Given the description of an element on the screen output the (x, y) to click on. 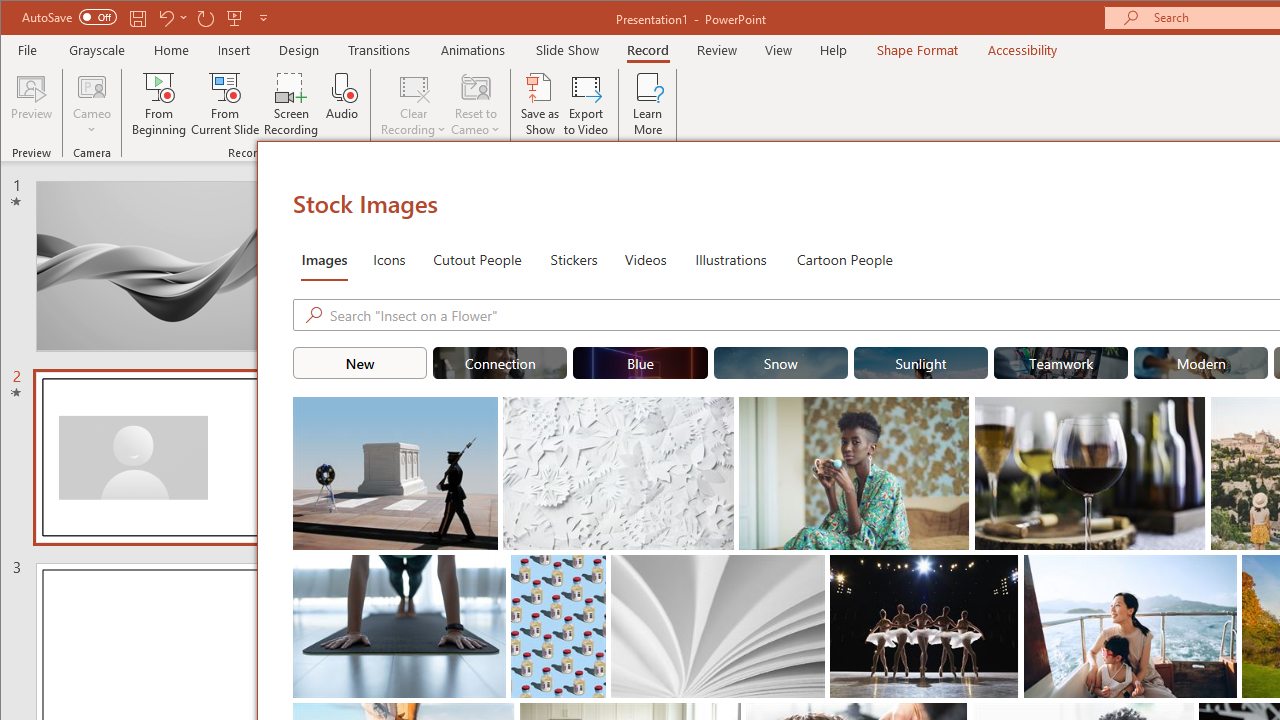
"Modern" Stock Images. (1201, 362)
Images (324, 258)
